Given the description of an element on the screen output the (x, y) to click on. 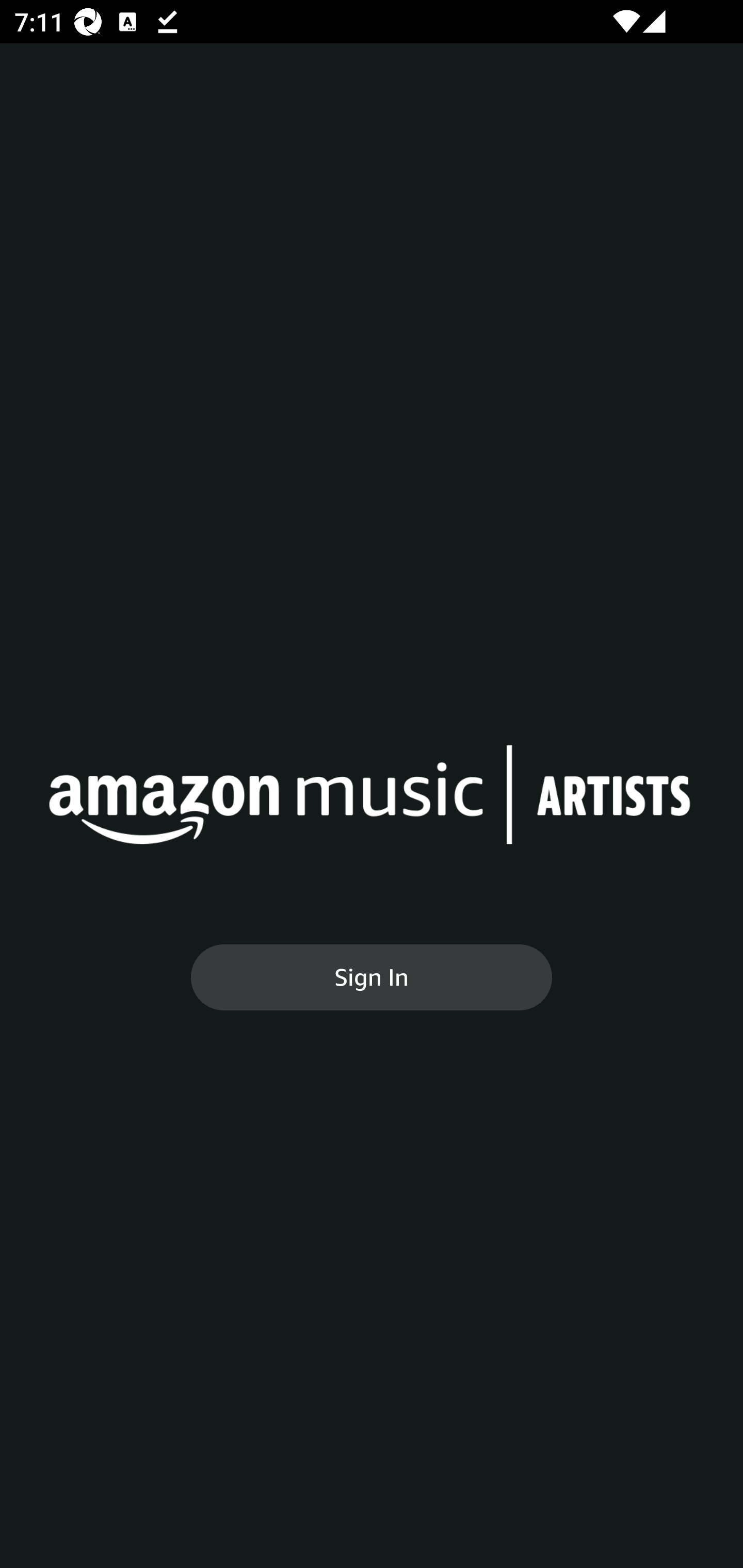
Sign in button Sign In (371, 976)
